Given the description of an element on the screen output the (x, y) to click on. 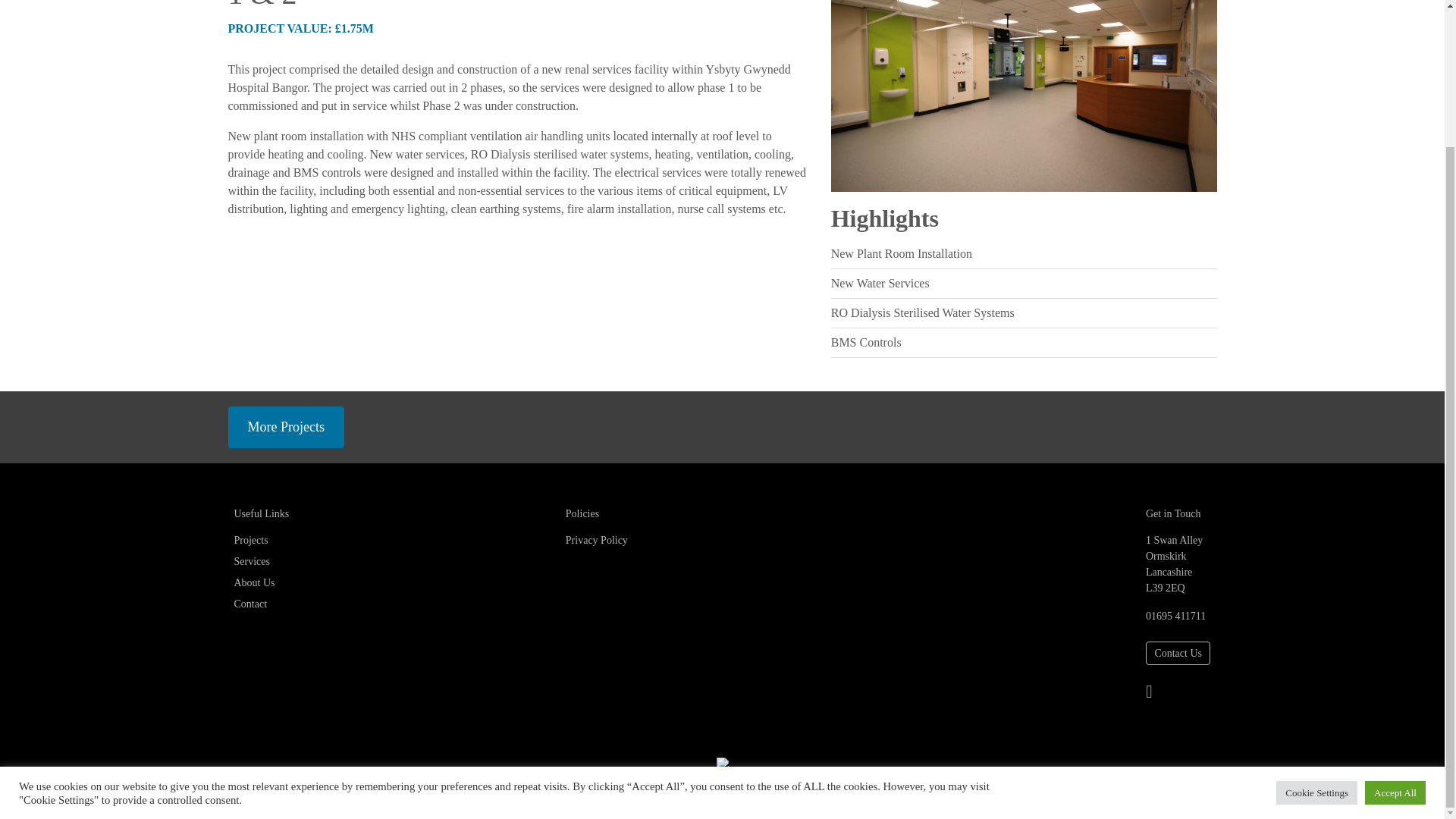
Privacy Policy (854, 789)
Contact Us (1178, 653)
Accept All (1395, 624)
Privacy Policy (596, 540)
Projects (249, 540)
Services (250, 561)
More Projects (285, 426)
About Us (253, 582)
Contact (249, 603)
Cookie Settings (1316, 624)
